Given the description of an element on the screen output the (x, y) to click on. 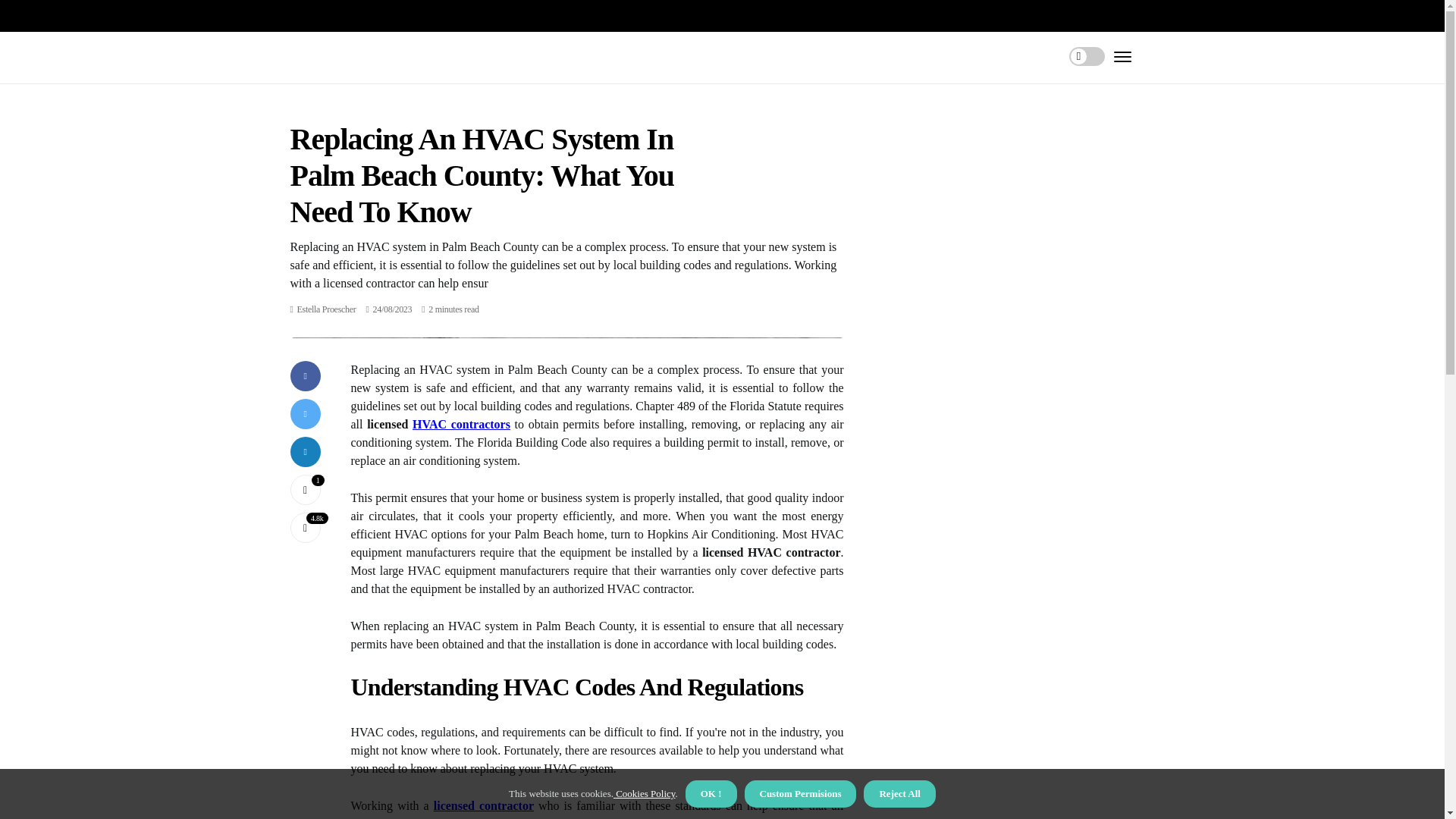
1 (304, 490)
Like (304, 490)
Estella Proescher (326, 308)
Posts by Estella Proescher (326, 308)
licensed contractor (483, 805)
HVAC contractors (461, 423)
